Given the description of an element on the screen output the (x, y) to click on. 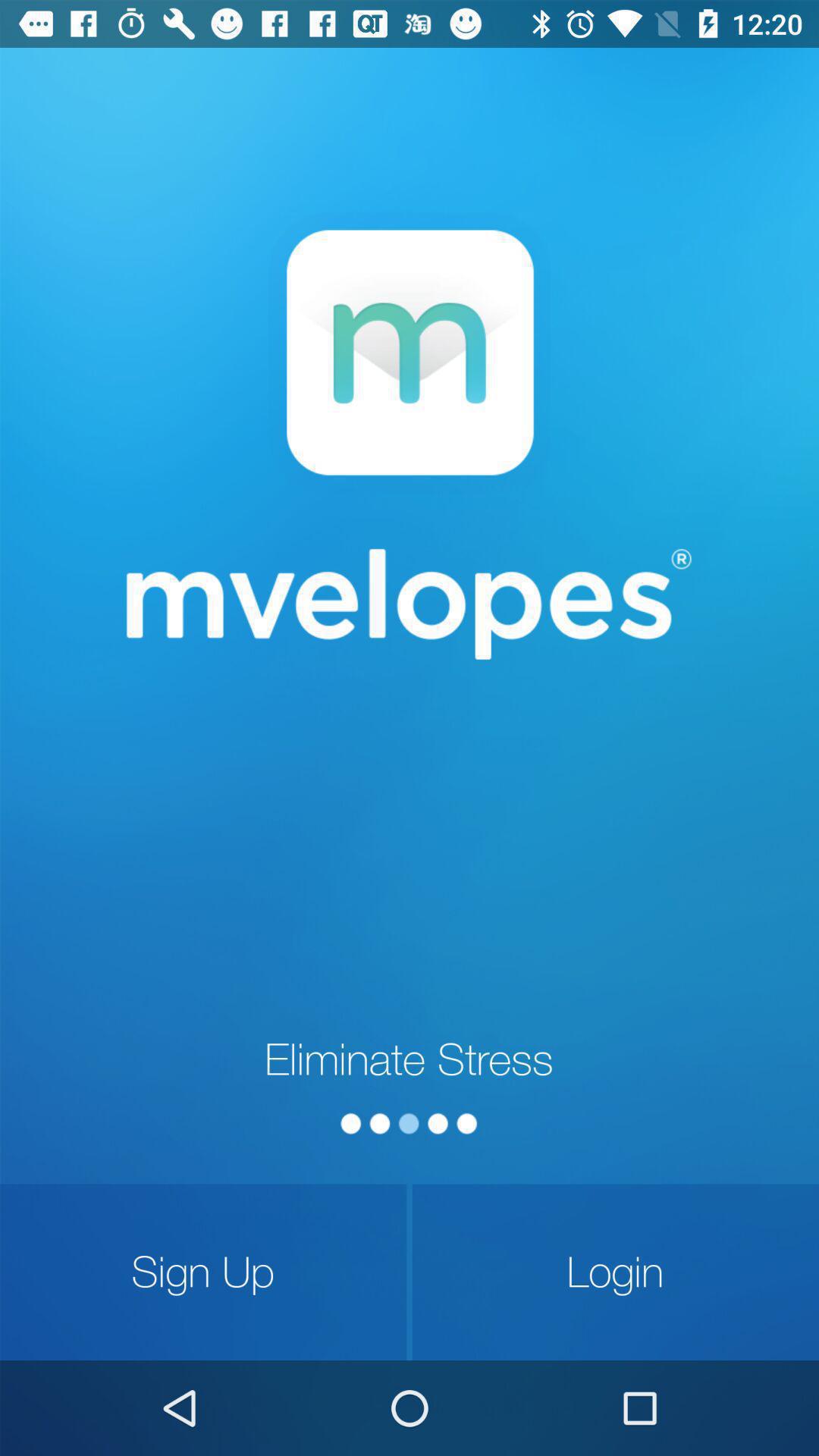
turn on the sign up (203, 1272)
